Given the description of an element on the screen output the (x, y) to click on. 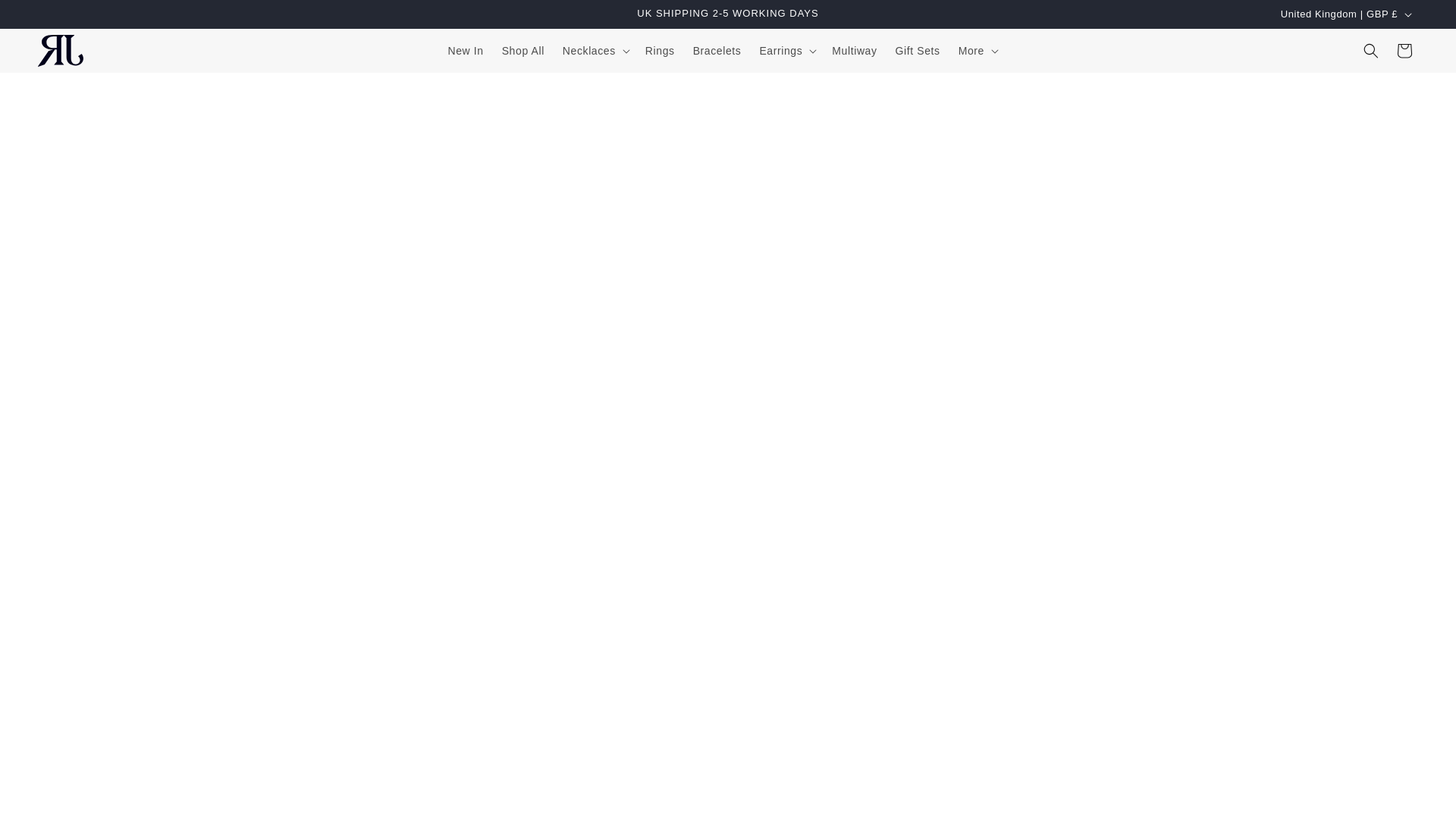
New In (465, 50)
Shop All (523, 50)
Skip to content (45, 17)
Necklaces (588, 50)
